Given the description of an element on the screen output the (x, y) to click on. 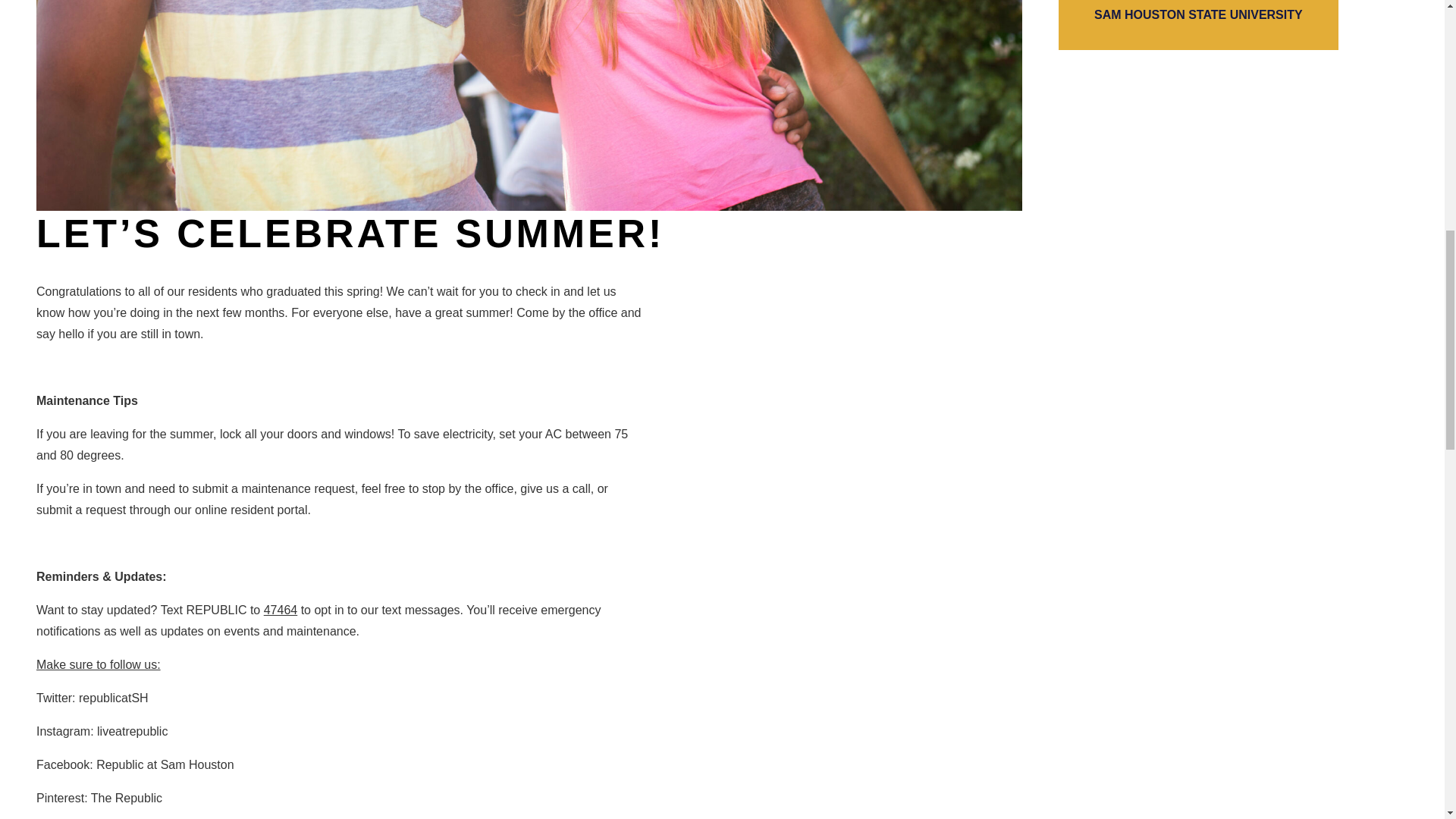
SAM HOUSTON STATE UNIVERSITY (1198, 24)
